Given the description of an element on the screen output the (x, y) to click on. 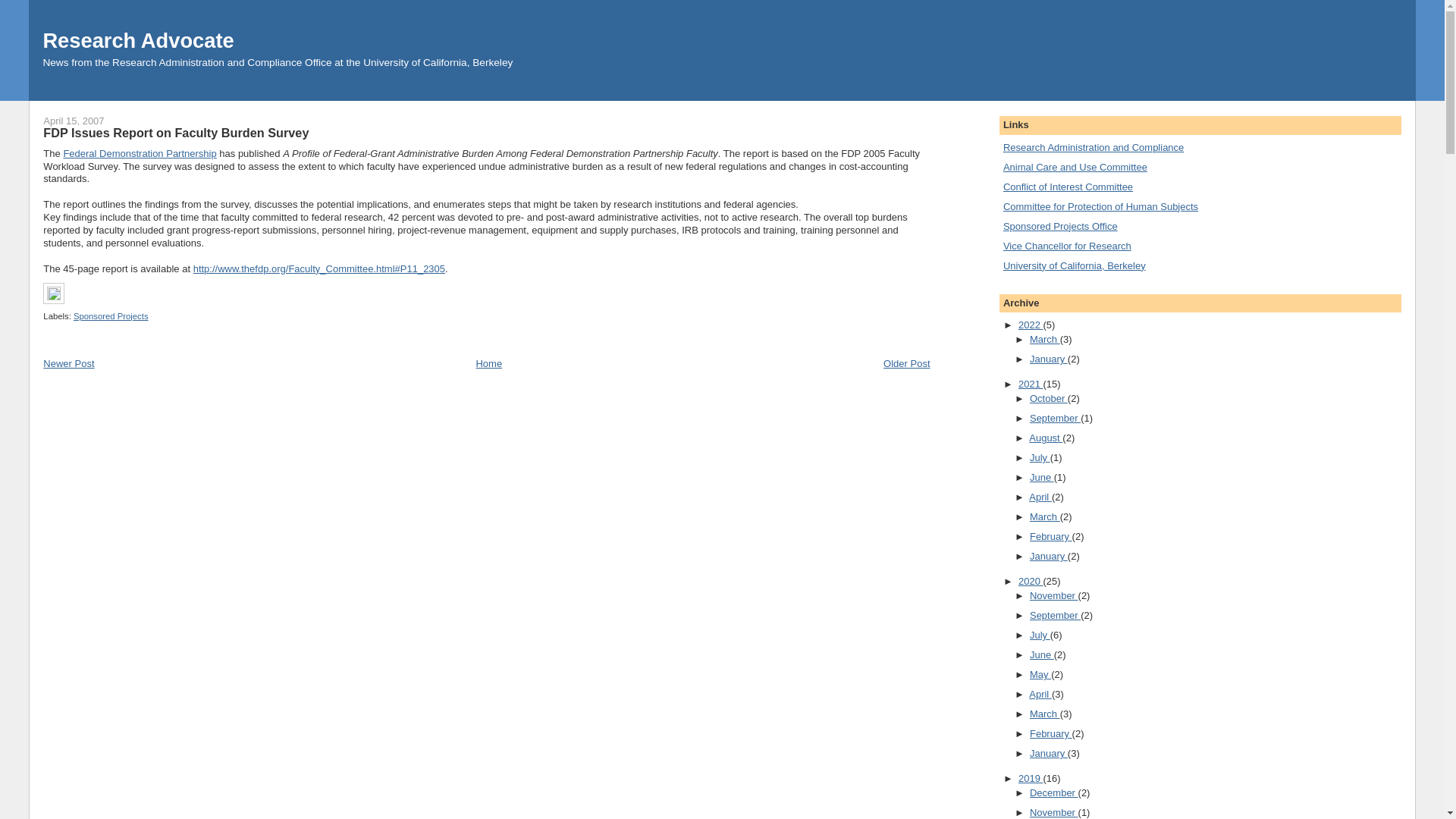
July (1039, 457)
University of California, Berkeley (1074, 265)
Older Post (906, 363)
April (1040, 496)
Research Advocate (137, 40)
January (1048, 358)
Home (489, 363)
Research Administration and Compliance (1093, 147)
Committee for Protection of Human Subjects (1100, 206)
Conflict of Interest Committee (1067, 186)
2022 (1030, 324)
March (1044, 338)
Animal Care and Use Committee (1075, 166)
Sponsored Projects (111, 316)
October (1048, 398)
